Given the description of an element on the screen output the (x, y) to click on. 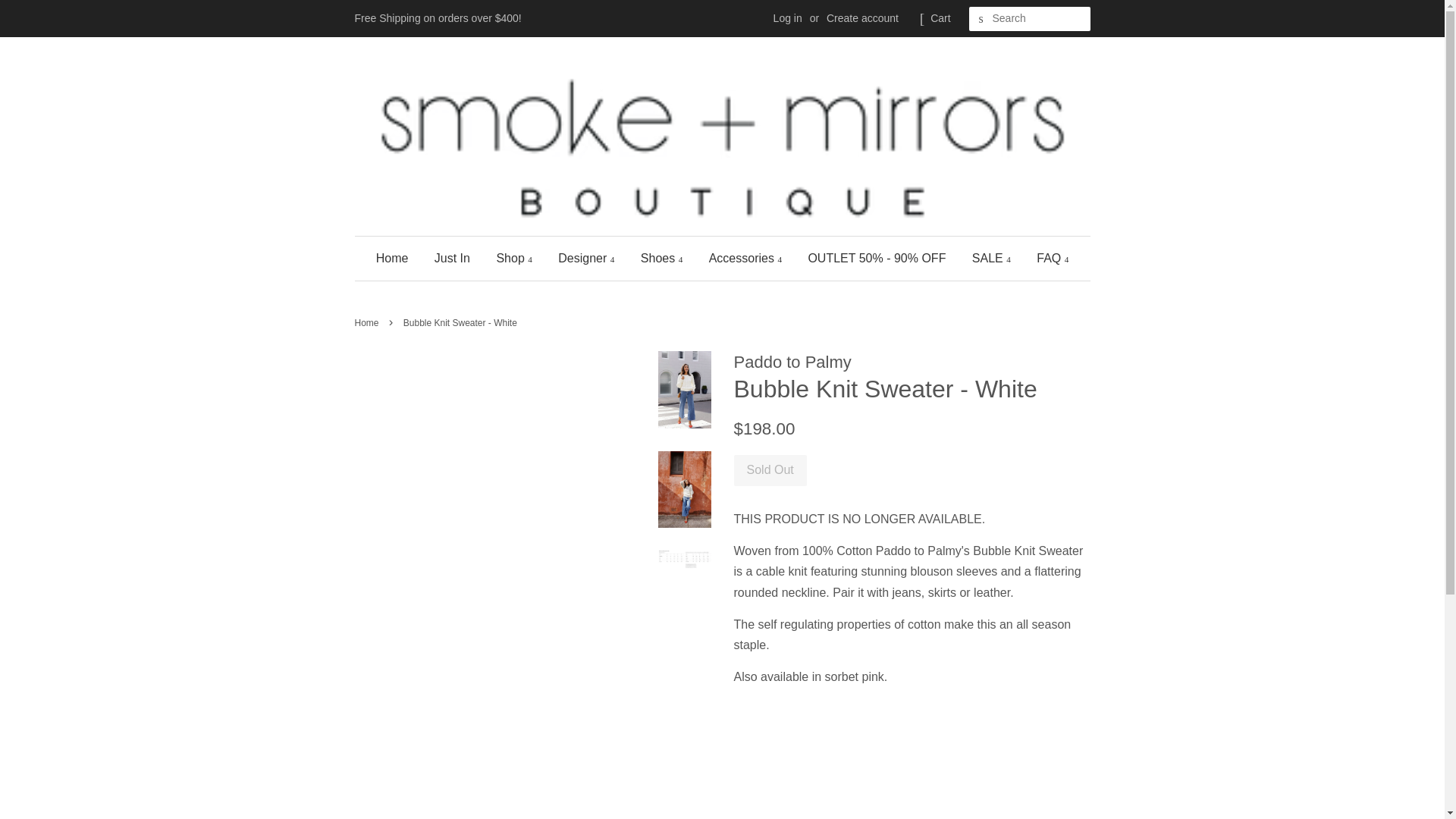
Back to the frontpage (368, 322)
Log in (787, 18)
Search (980, 18)
Create account (862, 18)
Cart (940, 18)
